Given the description of an element on the screen output the (x, y) to click on. 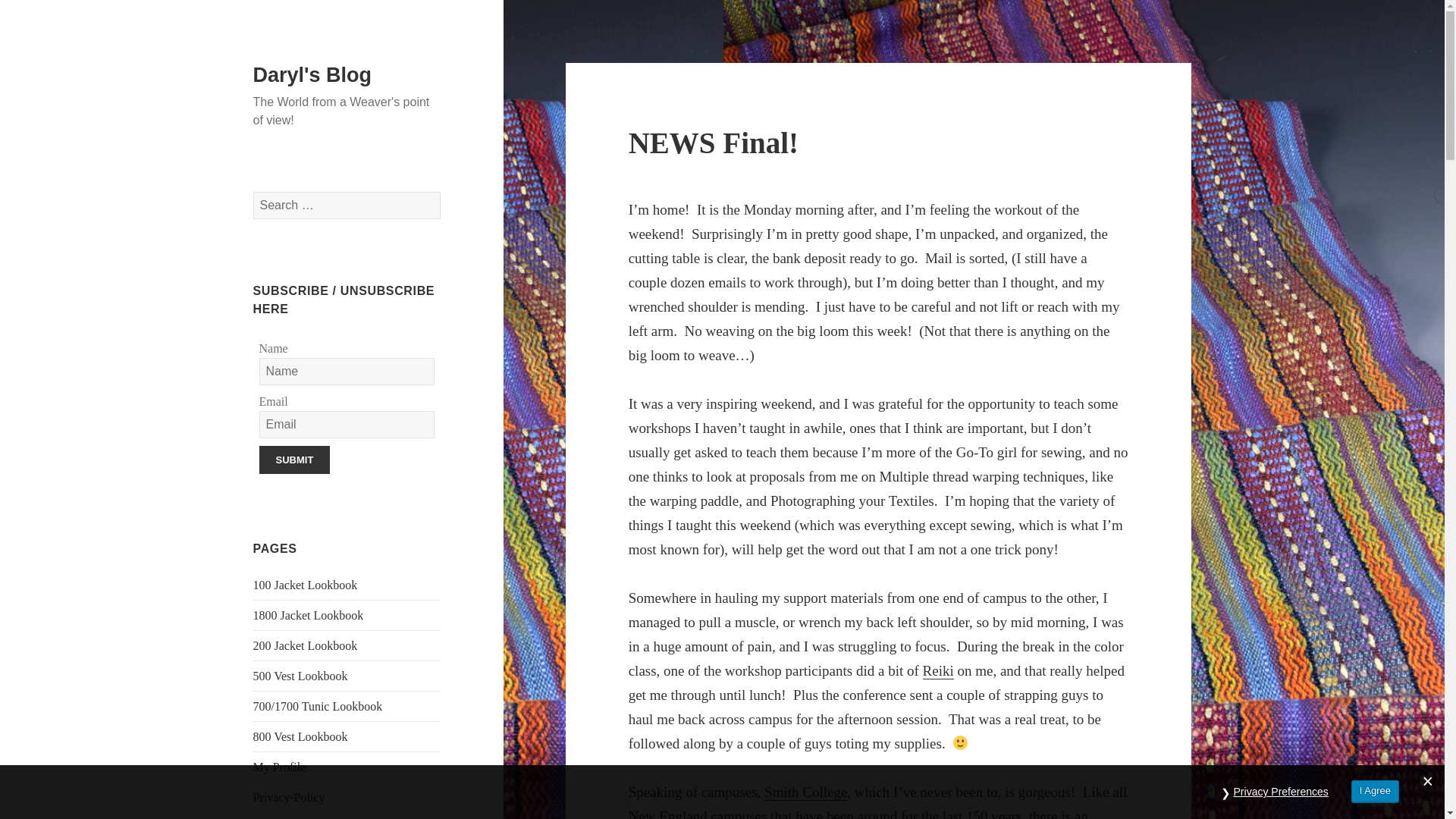
Daryl's Blog (312, 74)
800 Vest Lookbook (300, 736)
Reiki (938, 670)
Smith College (805, 791)
200 Jacket Lookbook (305, 645)
My Profile (279, 766)
1800 Jacket Lookbook (308, 615)
Privacy-Policy (288, 797)
Submit (156, 13)
SUBMIT (294, 459)
100 Jacket Lookbook (305, 584)
500 Vest Lookbook (300, 675)
